Given the description of an element on the screen output the (x, y) to click on. 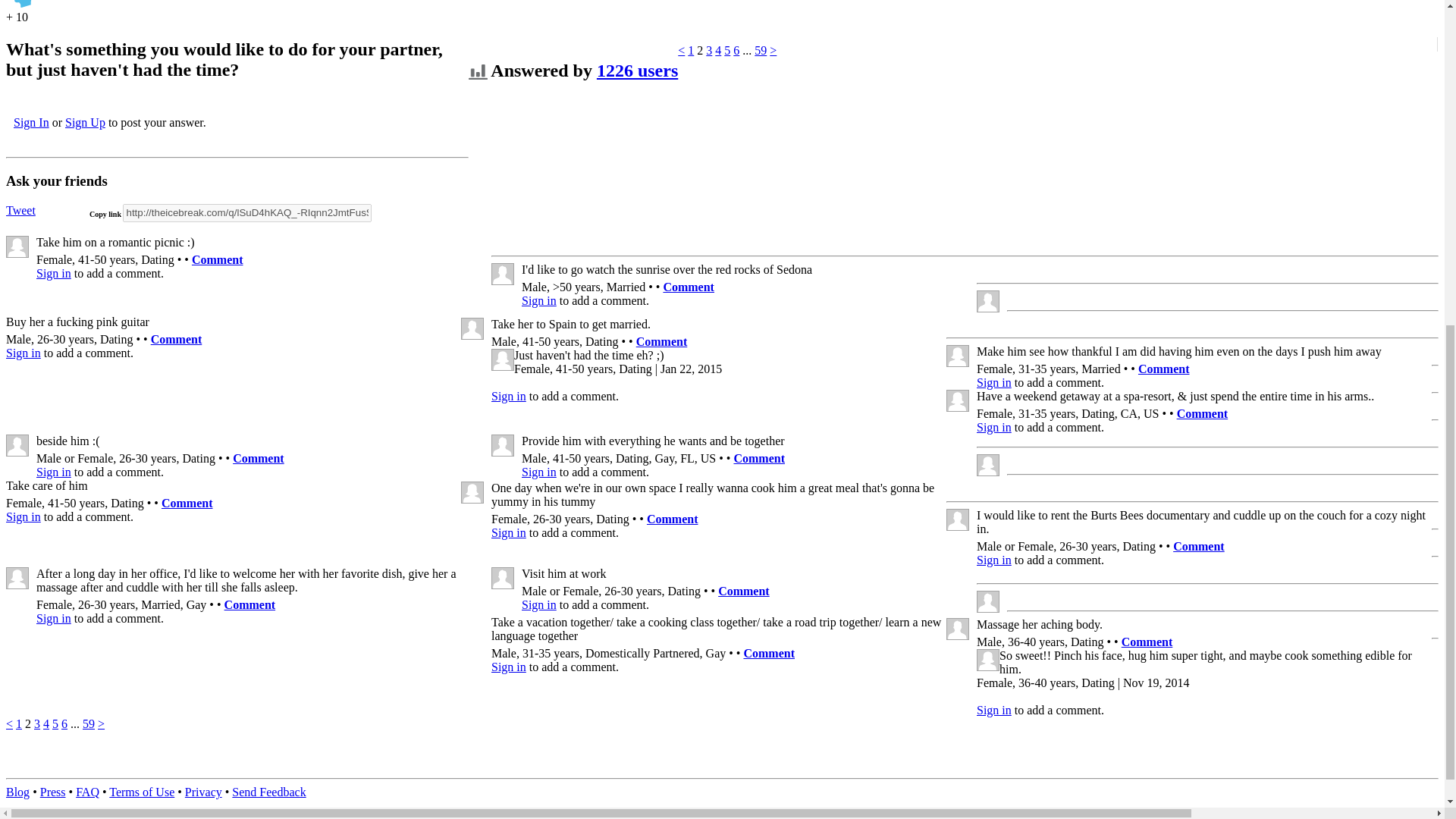
Female, 31-35 years, Married (957, 355)
Male, 41-50 years, Dating, Gay, FL, US (502, 445)
Male, 31-35 years, Domestically Partnered, Gay (987, 601)
Male, 41-50 years, Dating (472, 328)
5 (726, 50)
Female, 26-30 years, Married, Gay (17, 577)
4 (717, 50)
Female, 31-35 years, Dating, CA, US (957, 400)
Female, 41-50 years, Dating (987, 464)
3 (708, 50)
6 (736, 50)
59 (760, 50)
Female, 41-50 years, Dating (502, 359)
Comment (688, 286)
Sign In (31, 122)
